Given the description of an element on the screen output the (x, y) to click on. 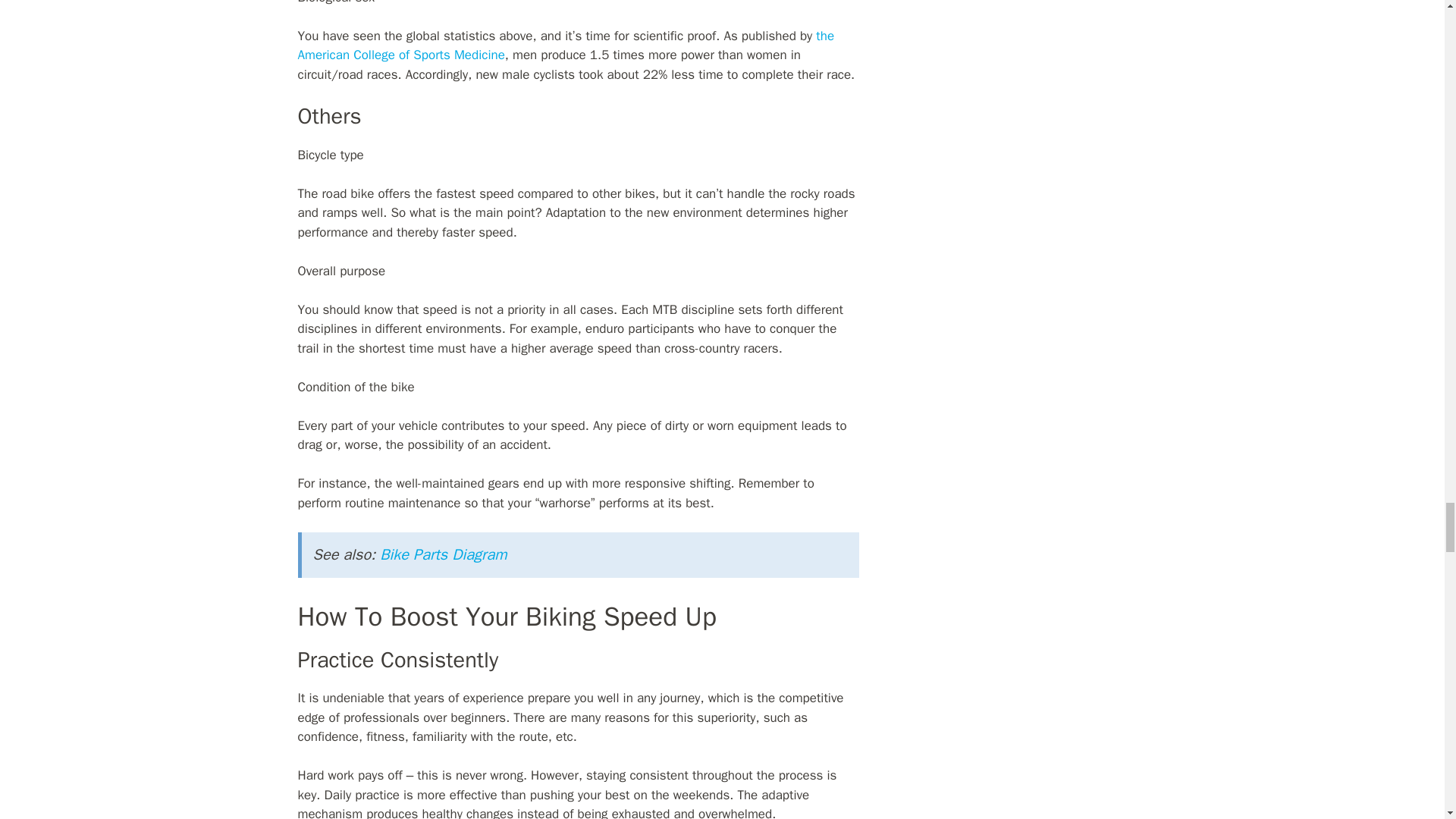
the American College of Sports Medicine (565, 45)
Bike Parts Diagram (443, 554)
